Given the description of an element on the screen output the (x, y) to click on. 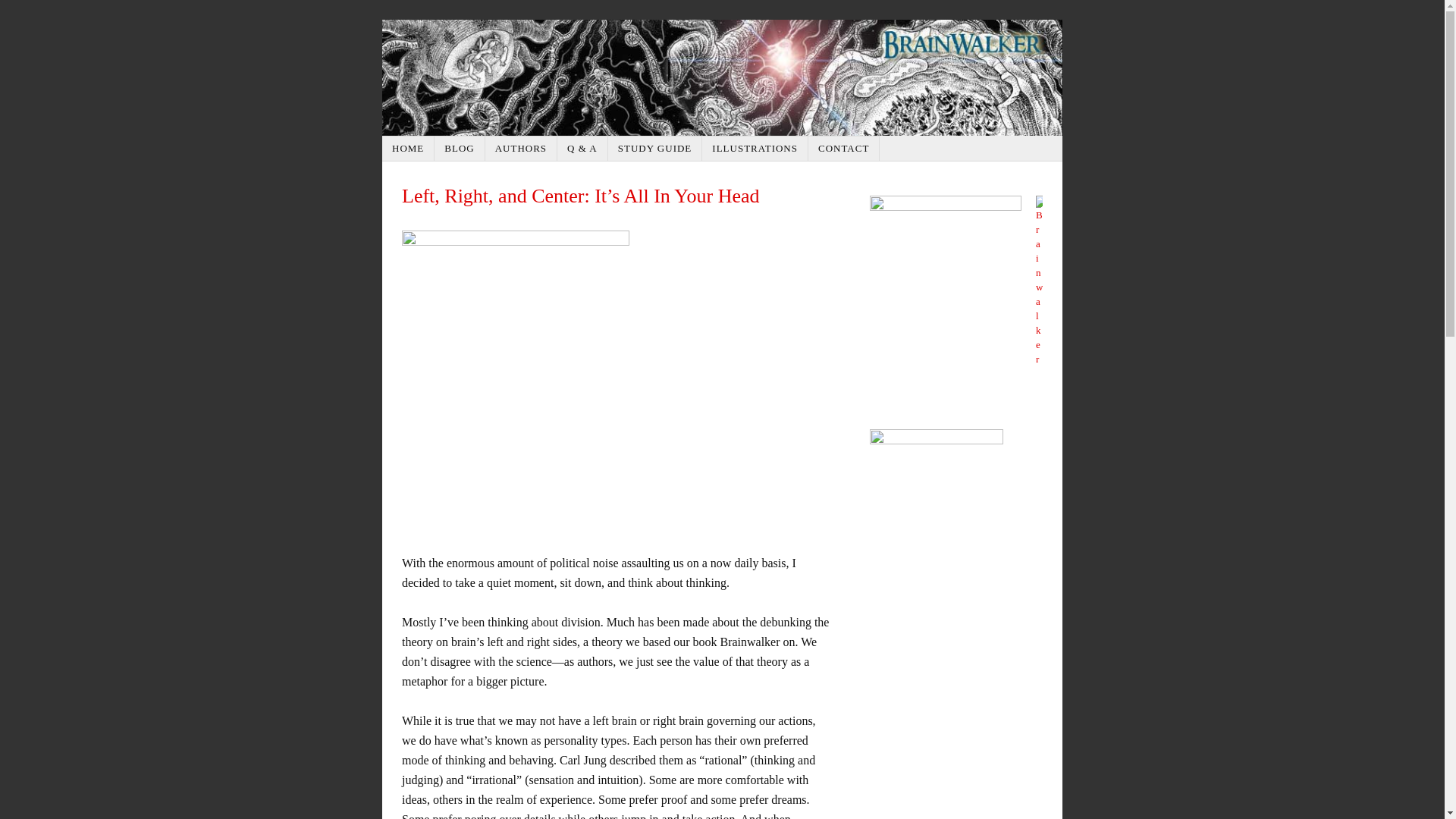
STUDY GUIDE (655, 148)
HOME (407, 148)
BLOG (458, 148)
AUTHORS (520, 148)
ILLUSTRATIONS (754, 148)
CONTACT (843, 148)
